Given the description of an element on the screen output the (x, y) to click on. 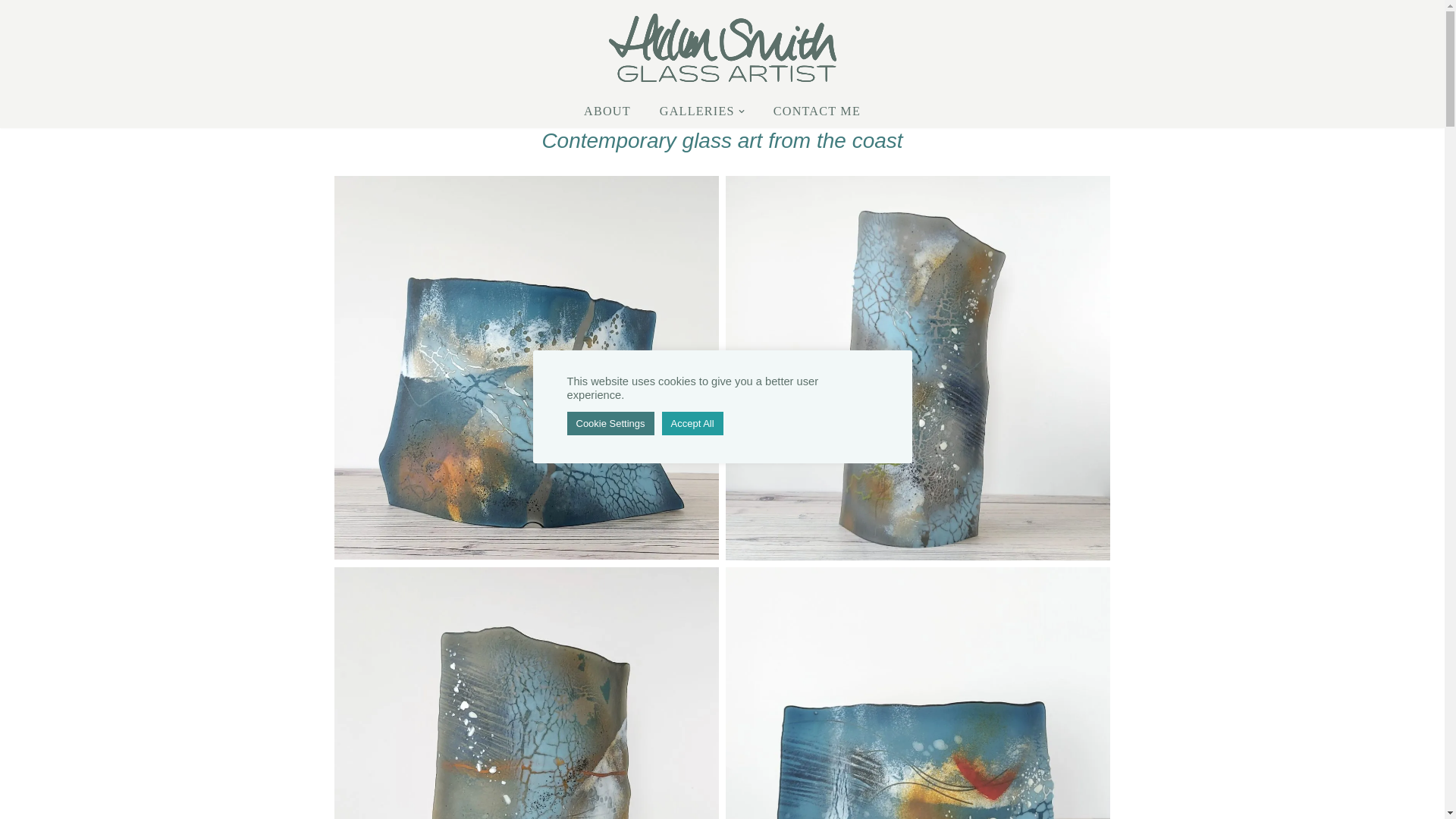
GALLERIES (697, 111)
Skip to content (11, 31)
ABOUT (606, 111)
CONTACT ME (816, 111)
